Given the description of an element on the screen output the (x, y) to click on. 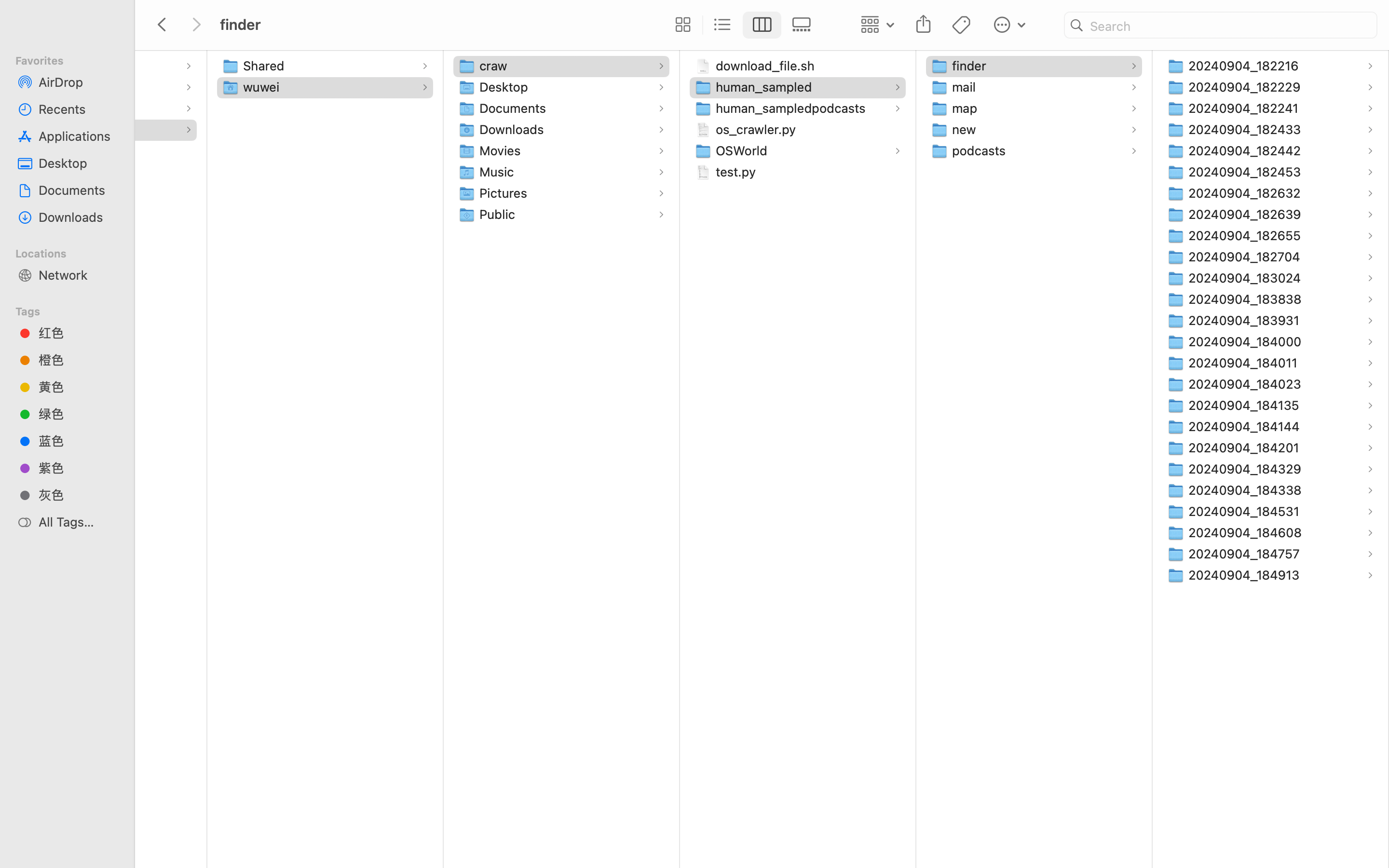
20240904_182433 Element type: AXTextField (1246, 128)
Users Element type: AXTextField (25, 128)
human_sampledpodcasts Element type: AXTextField (792, 107)
<AXUIElement 0x150118140> {pid=510} Element type: AXRadioGroup (741, 24)
0 Element type: AXRadioButton (680, 24)
